Given the description of an element on the screen output the (x, y) to click on. 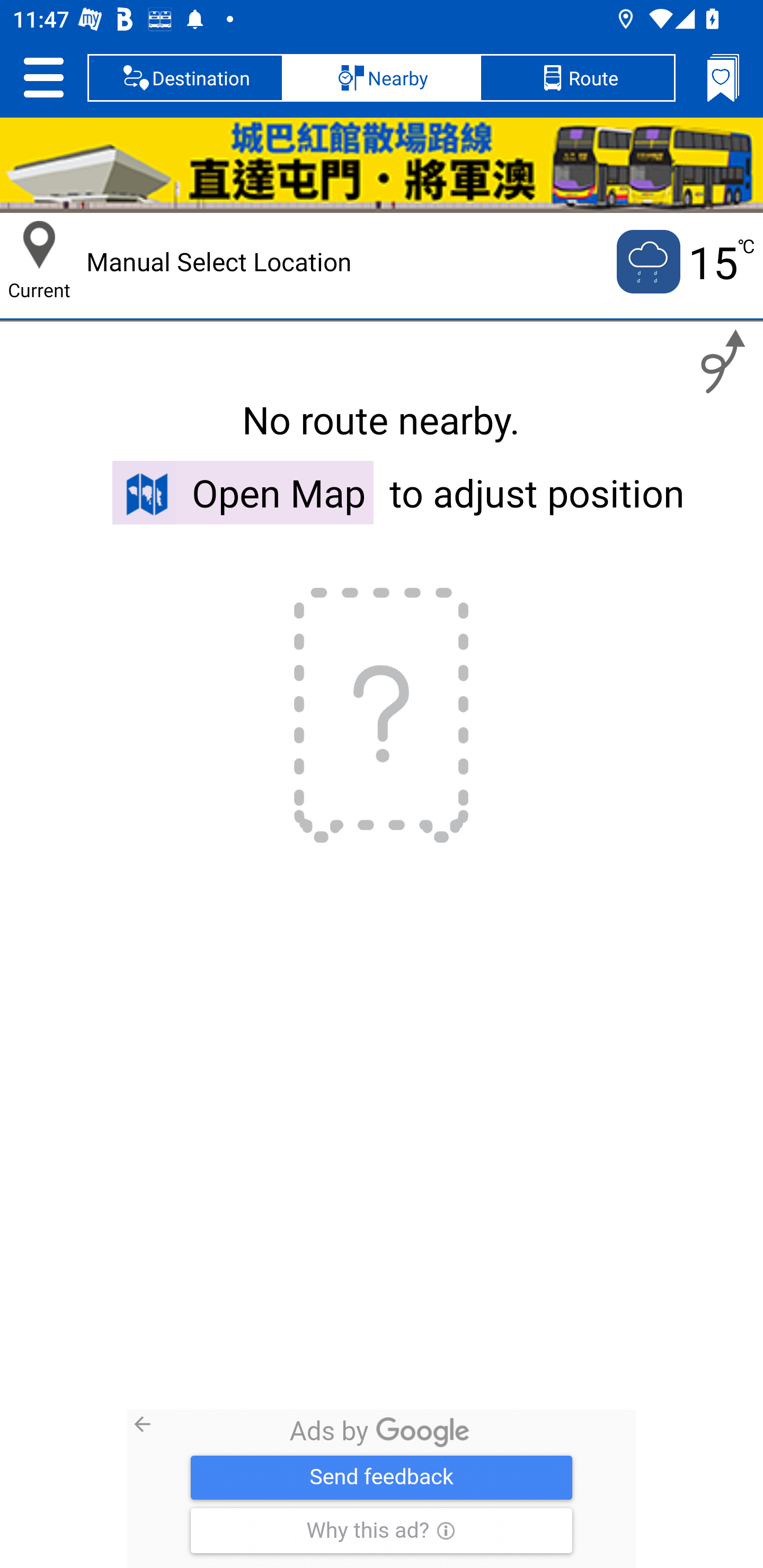
Destination (185, 77)
Nearby, selected (381, 77)
Route (577, 77)
Bookmarks (723, 77)
Setting (43, 77)
HKC (381, 165)
Current Location (38, 244)
Current temputure is  15  no 15 ℃ (684, 261)
Open Map (242, 491)
